Given the description of an element on the screen output the (x, y) to click on. 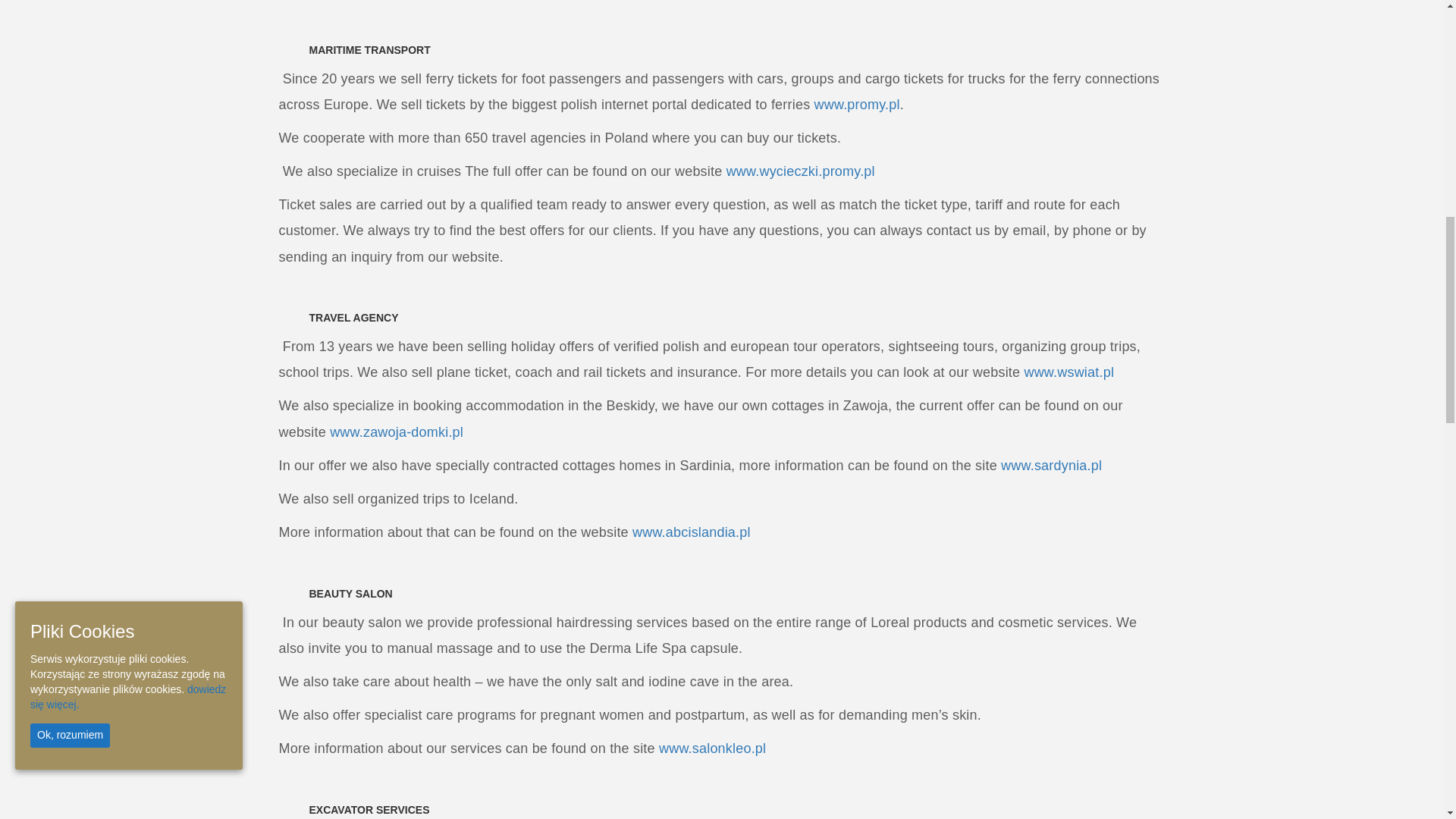
www.wswiat.pl (1086, 372)
www.abcislandia.pl (701, 531)
www.wycieczki.promy.pl (820, 171)
www.sardynia.pl (1062, 465)
www.salonkleo.pl (719, 748)
www.zawoja-domki.pl (410, 432)
www.promy.pl (880, 104)
